Given the description of an element on the screen output the (x, y) to click on. 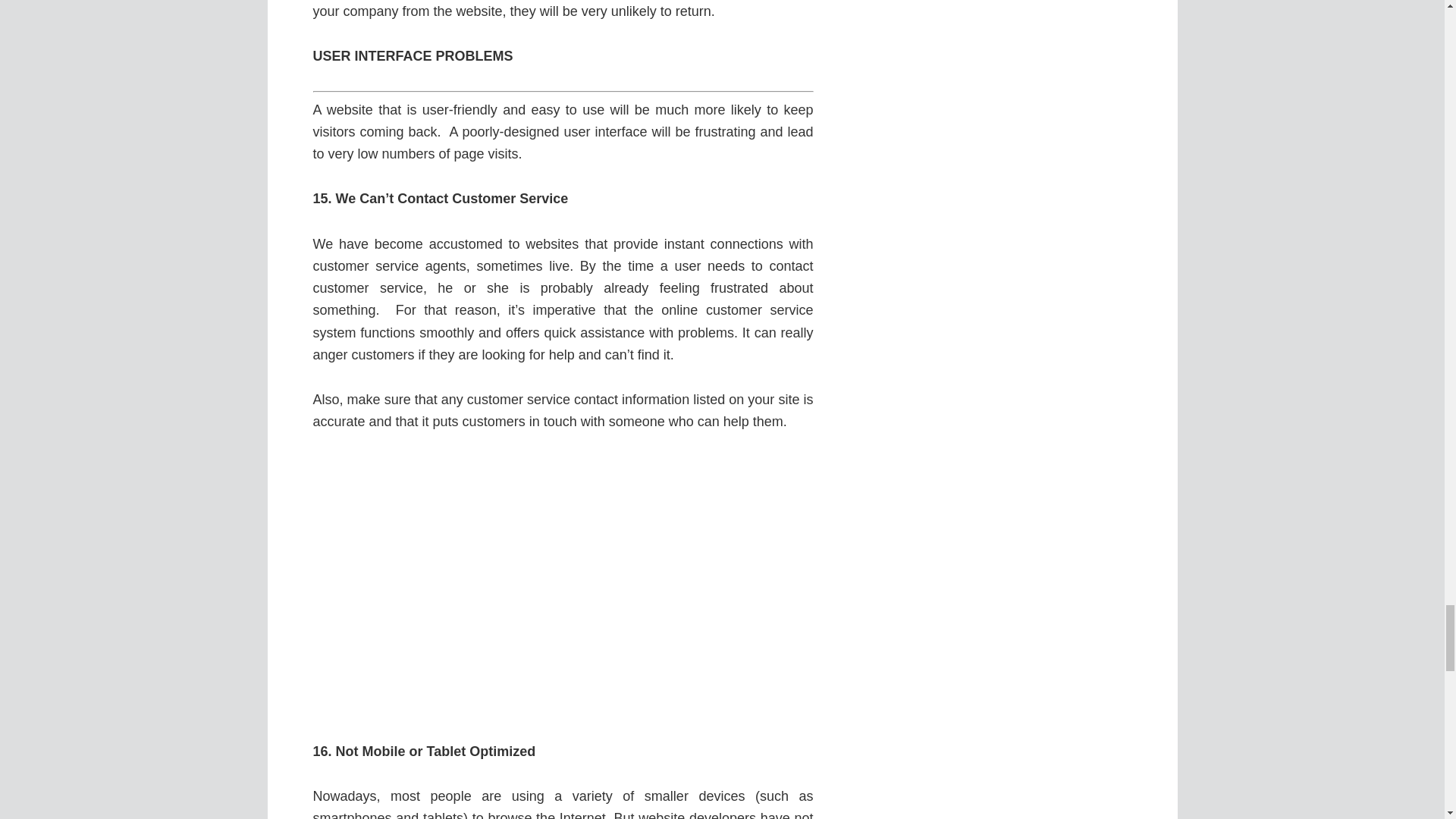
17 Things That Drive Us Crazy About Your Website 9 (562, 587)
